Given the description of an element on the screen output the (x, y) to click on. 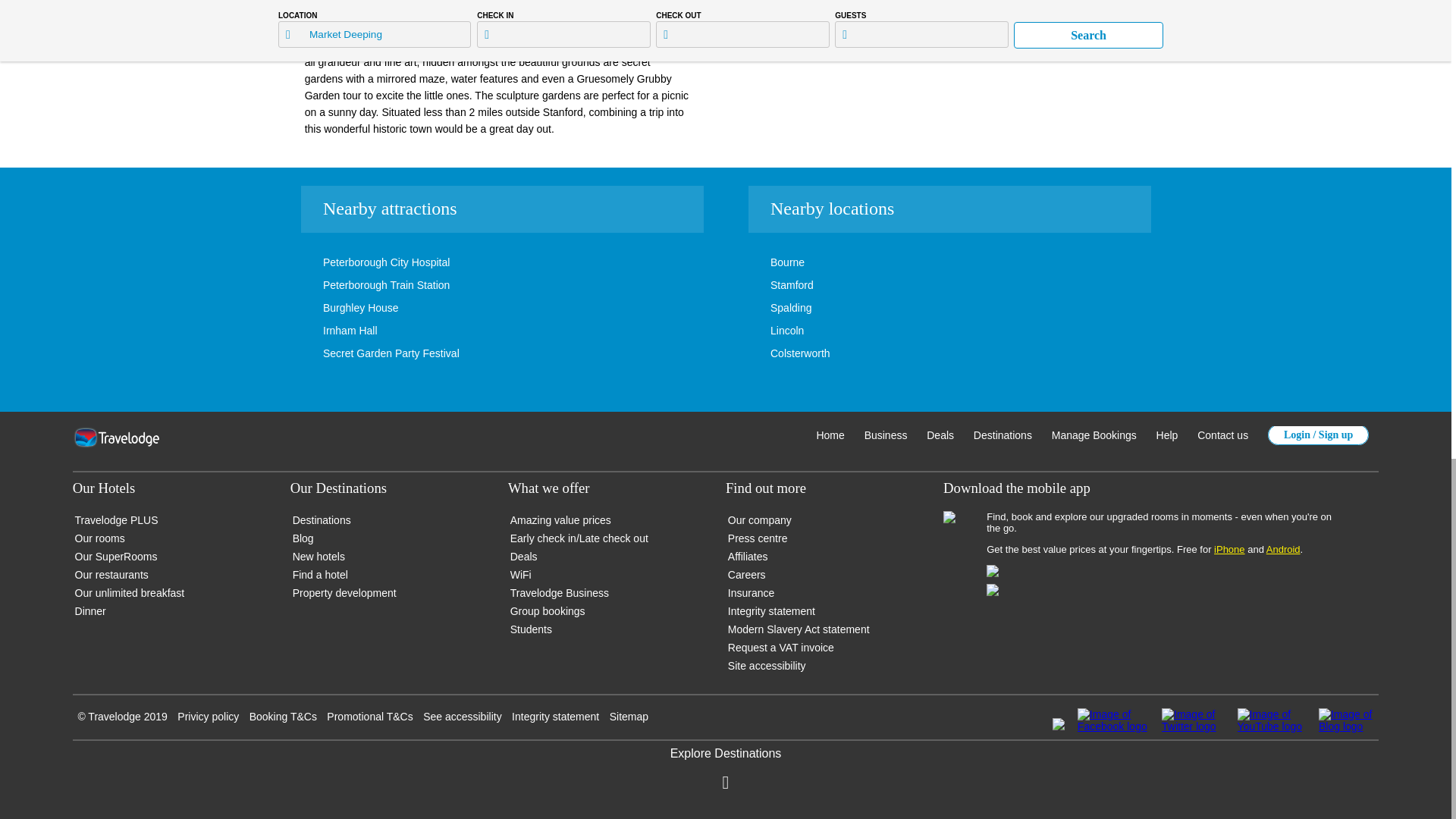
Peterborough City Hospital (363, 262)
Lincoln (764, 330)
Peterborough Train Station (363, 285)
Secret Garden Party Festival (369, 353)
Irnham Hall (327, 330)
Facebook (1112, 726)
Stamford (769, 285)
YouTube (1271, 720)
paypal (1058, 726)
Facebook (1112, 720)
